Given the description of an element on the screen output the (x, y) to click on. 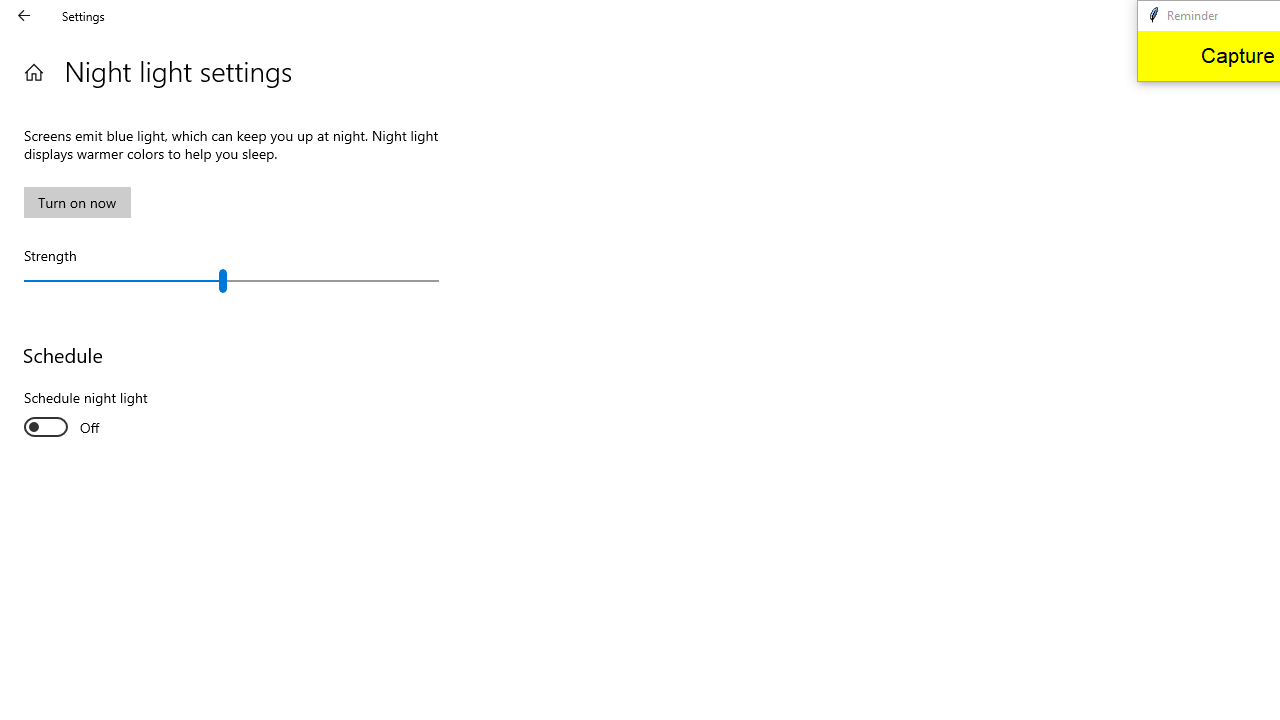
Turn on now (77, 202)
Schedule night light (97, 415)
Home (33, 71)
Strength (231, 280)
Back (24, 15)
